Given the description of an element on the screen output the (x, y) to click on. 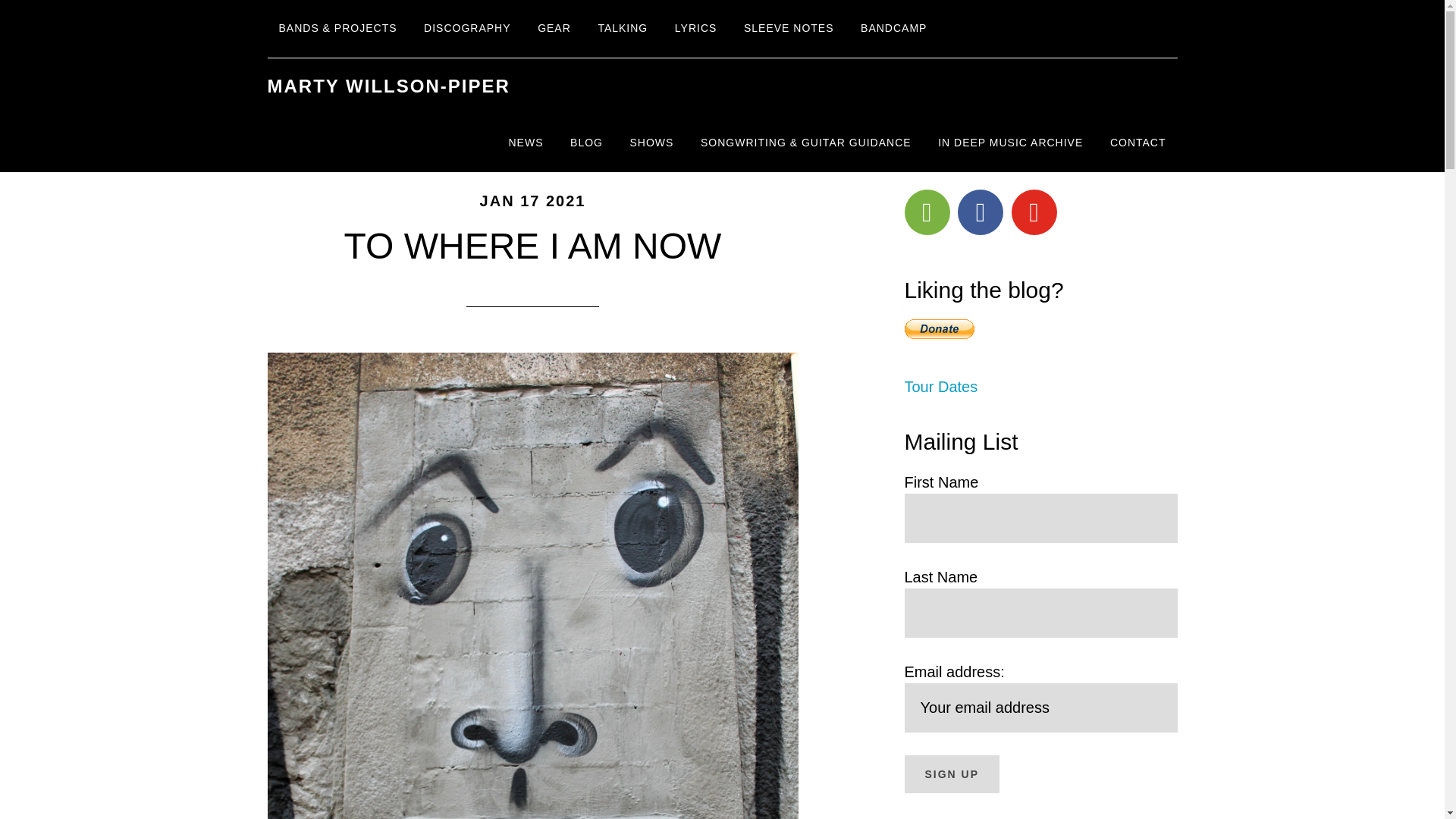
Sign up (951, 774)
PayPal - The safer, easier way to pay online! (939, 329)
LYRICS (696, 28)
Facebook (980, 212)
Spotify (926, 212)
DISCOGRAPHY (466, 28)
TALKING (622, 28)
YouTube (1034, 212)
GEAR (553, 28)
